Given the description of an element on the screen output the (x, y) to click on. 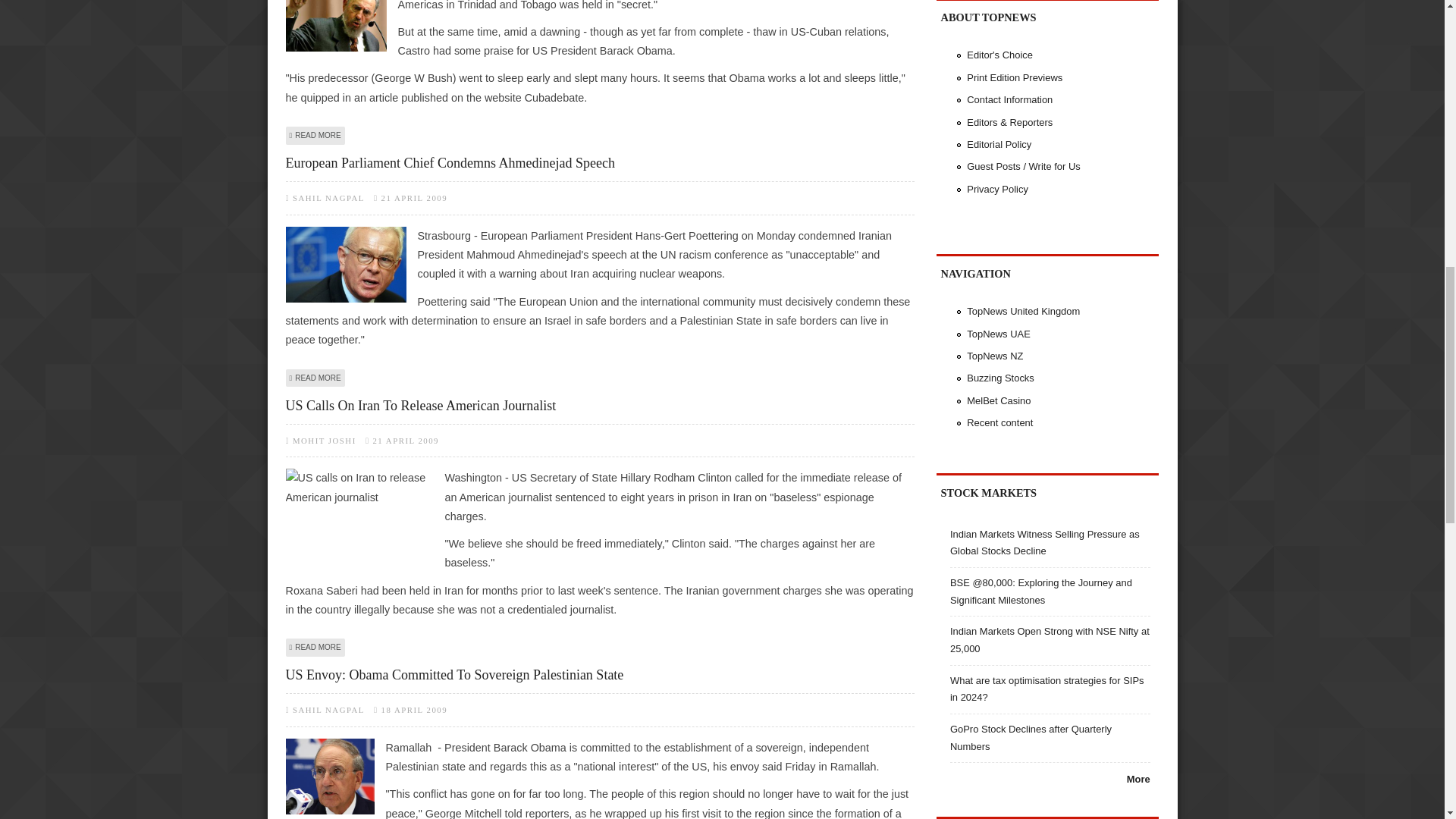
European Parliament chief condemns Ahmedinejad speech (314, 377)
SAHIL NAGPAL (328, 197)
View user profile. (324, 440)
US Envoy: Obama Committed To Sovereign Palestinian State (599, 675)
SAHIL NAGPAL (328, 709)
View user profile. (328, 197)
MOHIT JOSHI (324, 440)
European Parliament Chief Condemns Ahmedinejad Speech (599, 163)
European Parliament chief condemns Ahmedinejad speech (345, 264)
US calls on Iran to release American journalist  (358, 513)
